Given the description of an element on the screen output the (x, y) to click on. 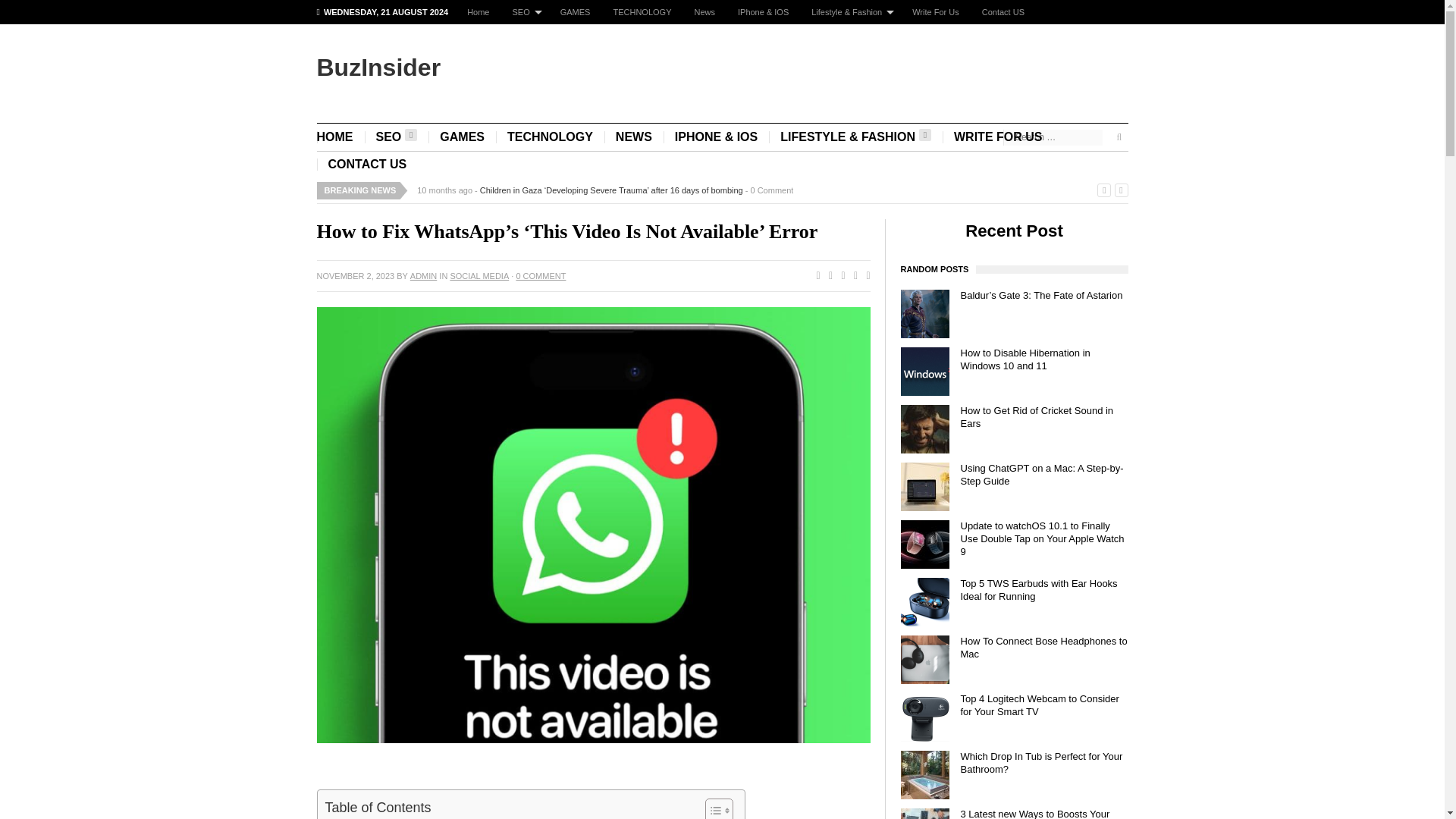
Contact US (1003, 12)
CONTACT US (368, 164)
SEO (524, 12)
Facebook (814, 276)
ADMIN (423, 275)
Pinterest (852, 276)
BuzInsider (379, 67)
TECHNOLOGY (550, 136)
SEO (396, 136)
NEWS (633, 136)
